Given the description of an element on the screen output the (x, y) to click on. 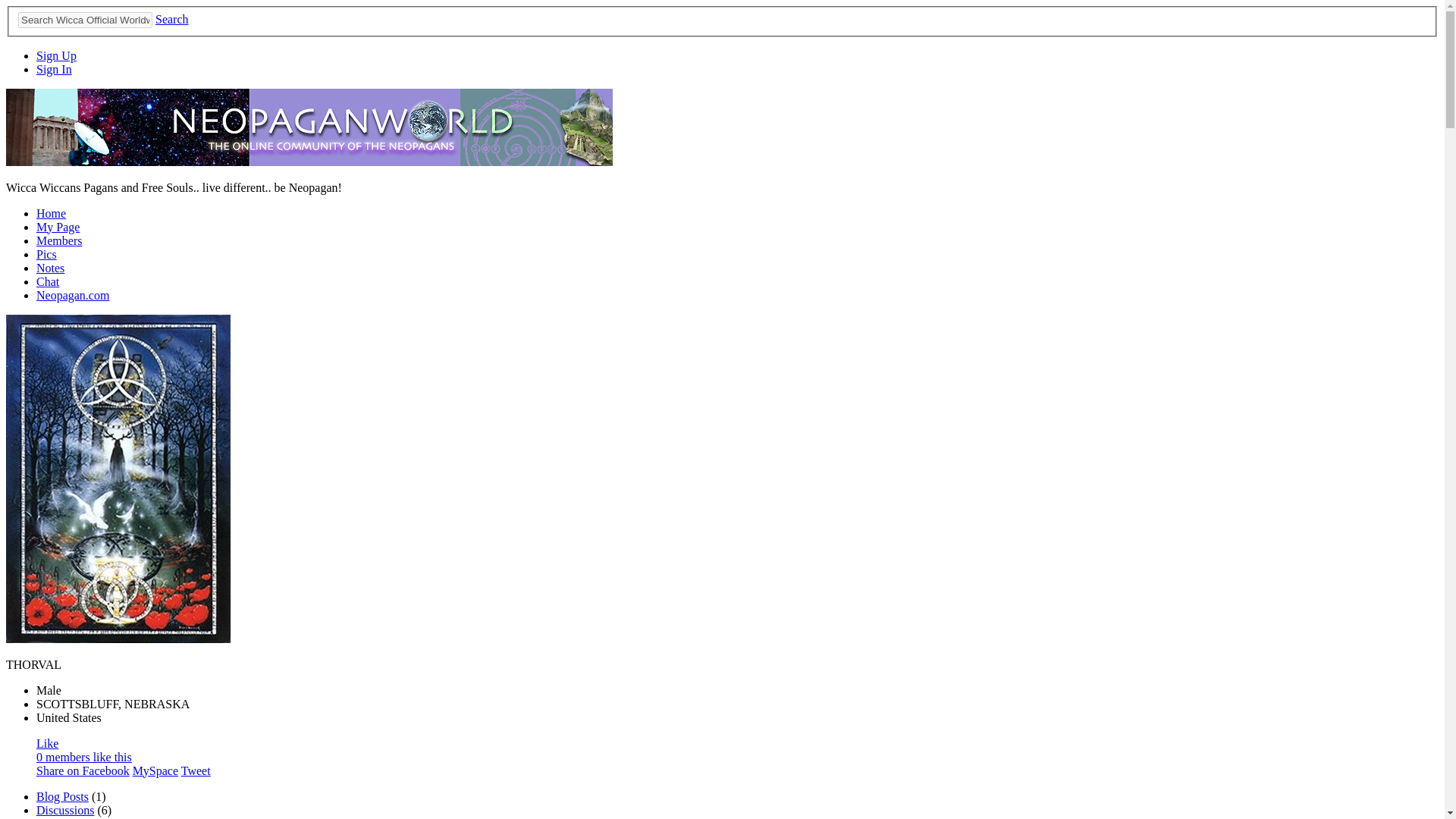
Chat (47, 281)
Home (50, 213)
Pics (46, 254)
Sign Up (56, 55)
Search (172, 19)
MySpace (154, 770)
Discussions (65, 809)
Like (47, 743)
Sign In (53, 69)
Neopagan.com (72, 295)
Share on Facebook (82, 770)
0 members like this (84, 757)
Groups (53, 818)
Members (58, 240)
My Page (58, 226)
